Given the description of an element on the screen output the (x, y) to click on. 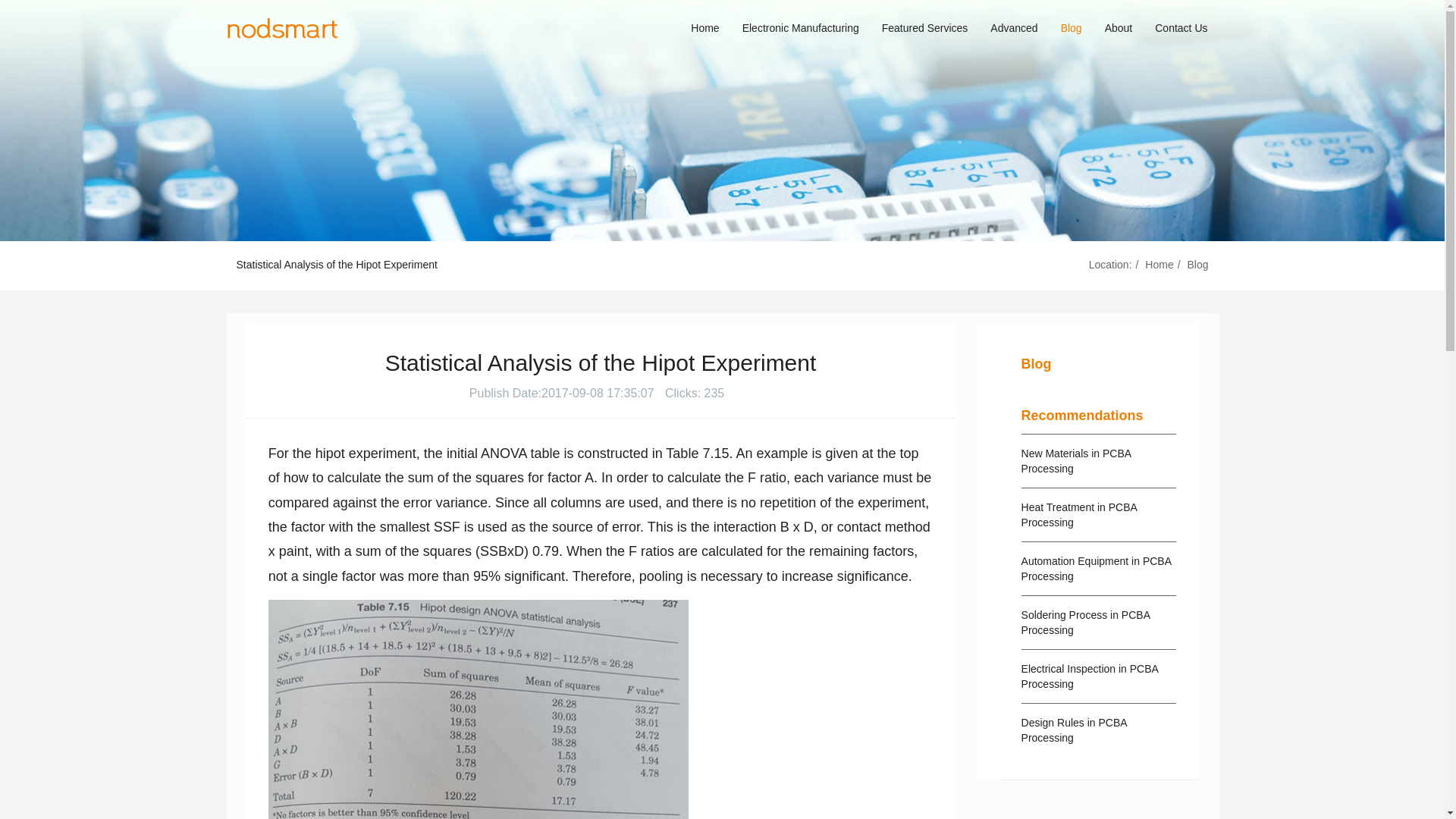
Featured Services (924, 28)
Advanced (1013, 28)
Electronic Manufacturing (800, 28)
About (1118, 28)
Electronic Manufacturing (800, 28)
Contact Us (1180, 28)
Blog (1197, 264)
Featured Services (924, 28)
Home (704, 28)
NOD Electronics (282, 28)
